Given the description of an element on the screen output the (x, y) to click on. 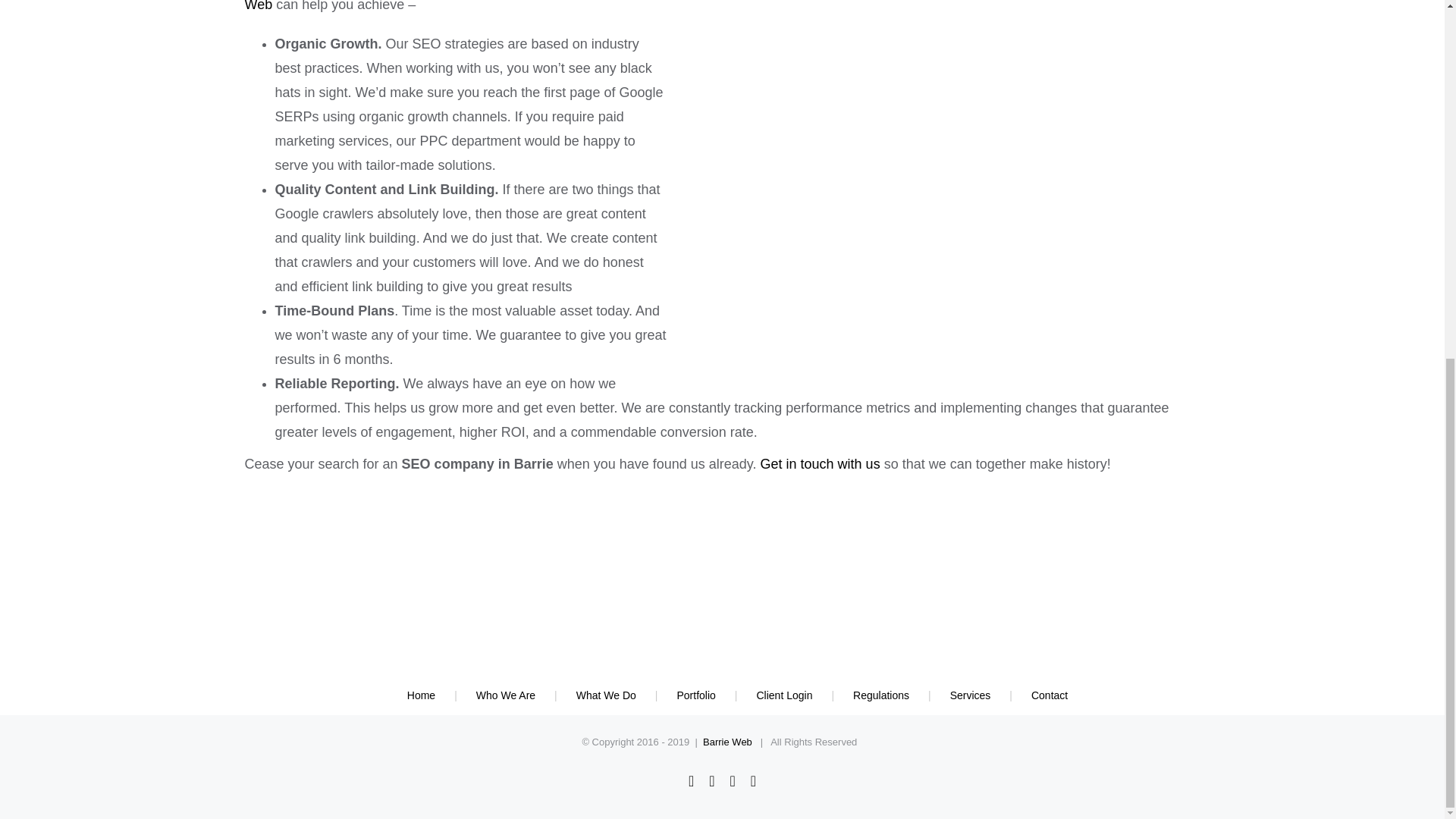
Instagram (753, 780)
X (711, 780)
LinkedIn (732, 780)
Facebook (691, 780)
